Given the description of an element on the screen output the (x, y) to click on. 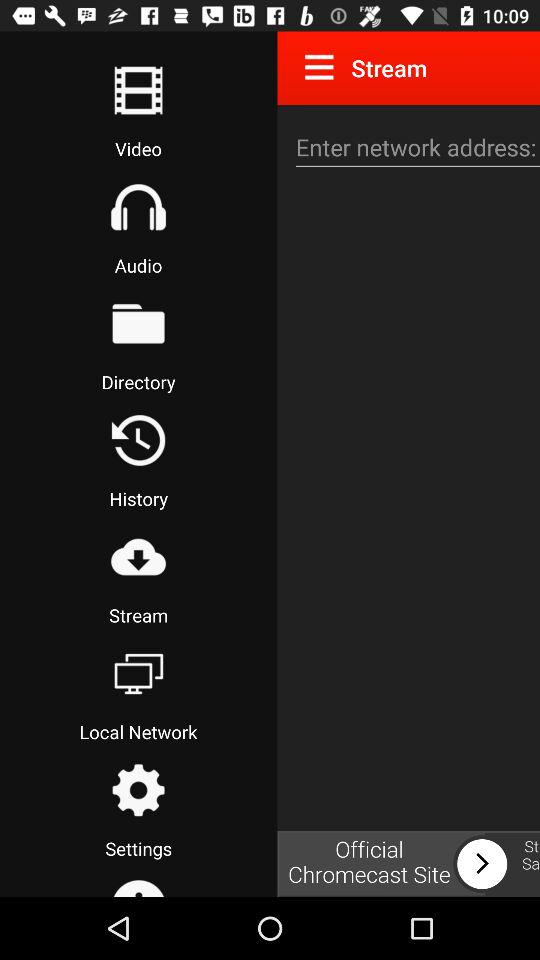
go to chromecast site (408, 864)
